Given the description of an element on the screen output the (x, y) to click on. 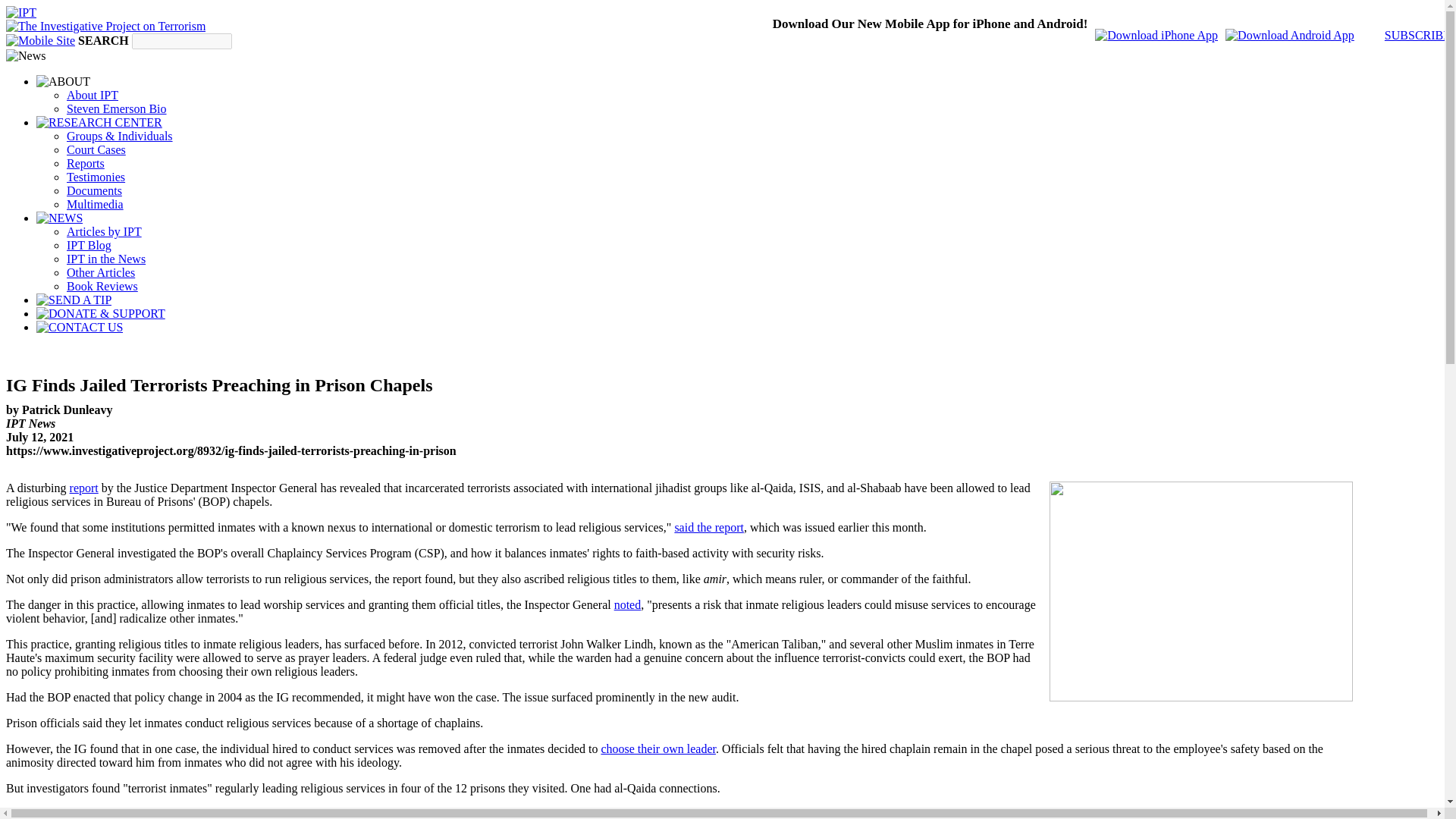
SEND A TIP (74, 300)
said (932, 813)
Book Reviews (102, 286)
CONTACT US (79, 327)
About IPT (91, 94)
Steven Emerson Bio (116, 108)
report (84, 487)
Reports (85, 163)
NEWS (59, 218)
IPT in the News (105, 258)
Multimedia (94, 204)
Testimonies (95, 176)
choose their own leader (657, 748)
Court Cases (95, 149)
IPT Blog (89, 245)
